Given the description of an element on the screen output the (x, y) to click on. 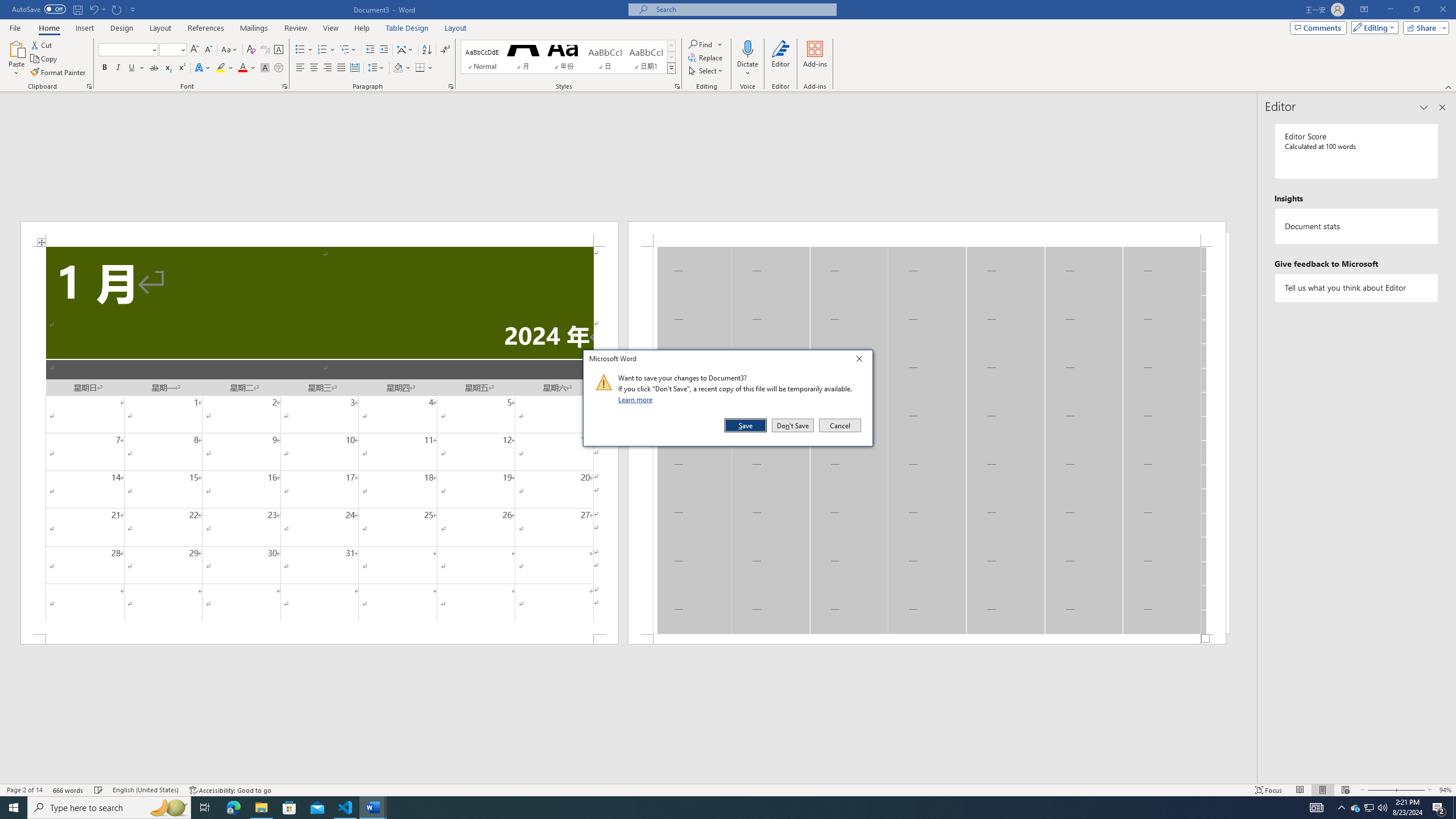
Cut (42, 44)
Share (1423, 27)
Spelling and Grammar Check Checking (98, 790)
Search highlights icon opens search home window (167, 807)
Save (746, 425)
Zoom In (1410, 790)
Align Left (300, 67)
Action Center, 2 new notifications (1439, 807)
Show/Hide Editing Marks (444, 49)
View (330, 28)
Header -Section 1- (926, 233)
Text Highlight Color (224, 67)
Zoom Out (1380, 790)
